Given the description of an element on the screen output the (x, y) to click on. 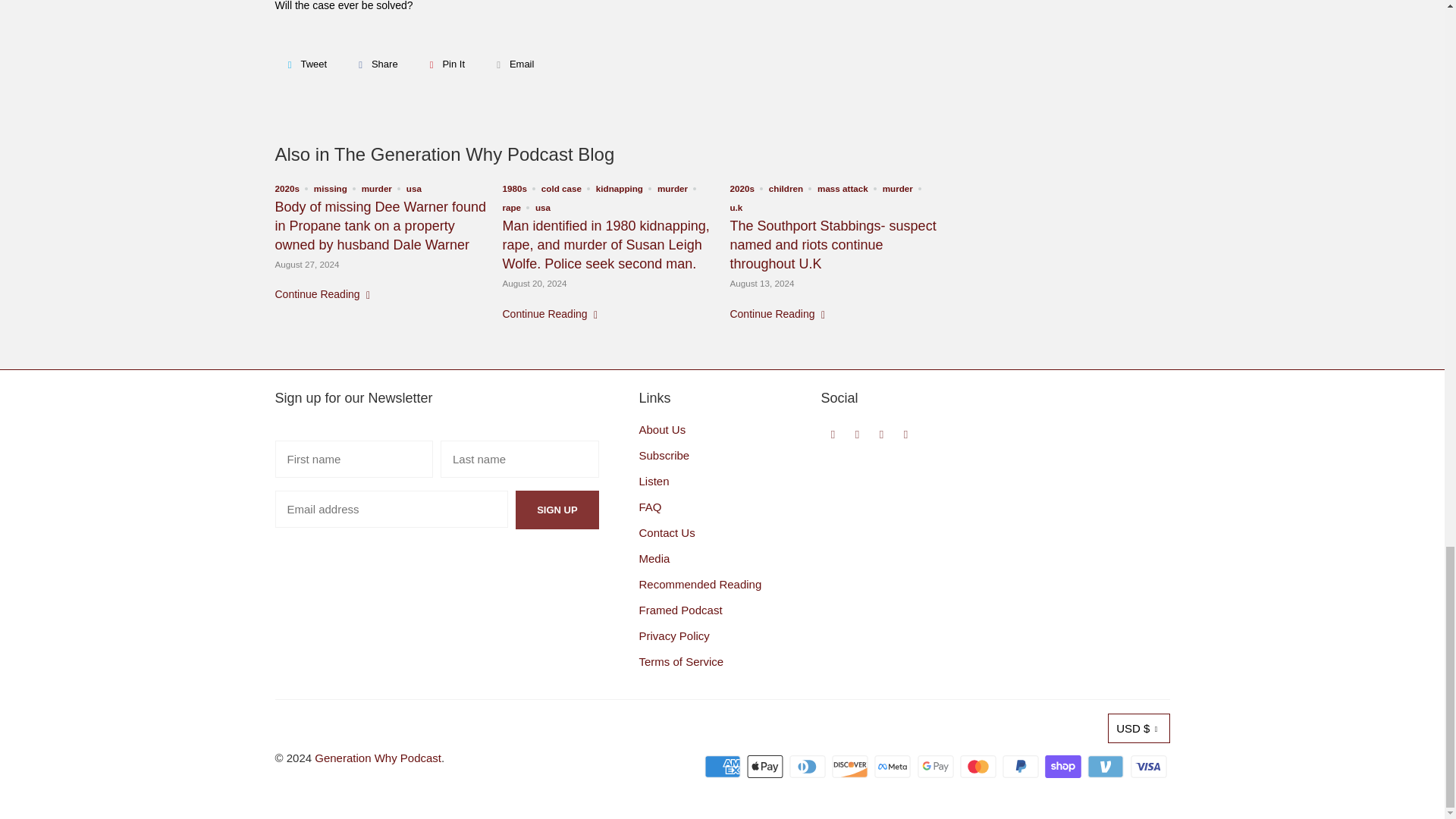
Email this to a friend (513, 63)
PayPal (1022, 766)
The Generation Why Podcast Blog tagged 2020s (286, 187)
Discover (850, 766)
American Express (724, 766)
Diners Club (808, 766)
Google Pay (936, 766)
Mastercard (978, 766)
Venmo (1106, 766)
Meta Pay (894, 766)
